Given the description of an element on the screen output the (x, y) to click on. 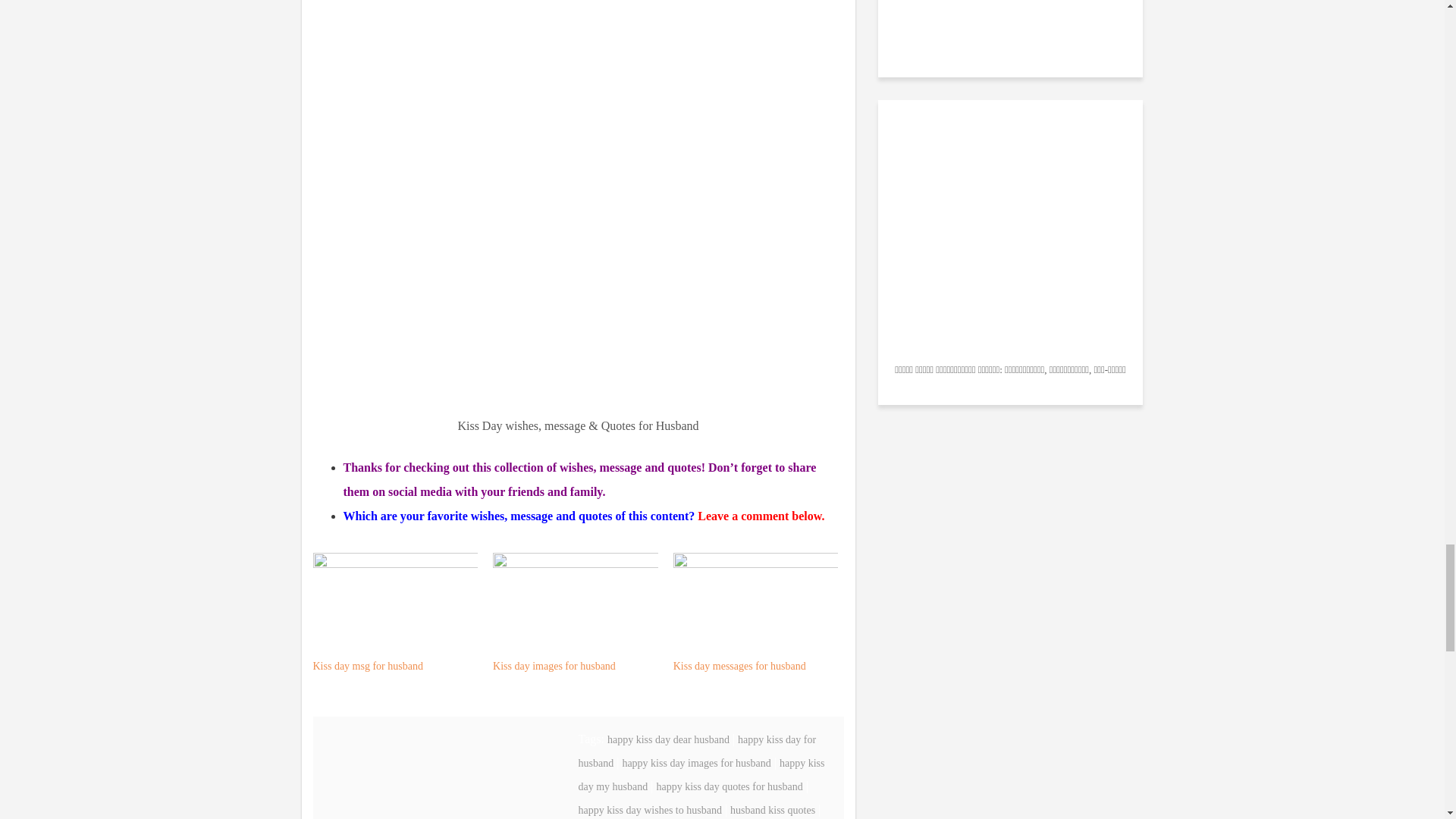
happy kiss day my husband (701, 774)
happy kiss day images for husband (695, 763)
Kiss day msg for husband (367, 666)
husband kiss quotes (772, 809)
Kiss day images for husband (554, 666)
Kiss day messages for husband (739, 666)
happy kiss day quotes for husband (729, 786)
happy kiss day wishes to husband (649, 809)
happy kiss day for husband (696, 751)
happy kiss day dear husband (668, 739)
